Given the description of an element on the screen output the (x, y) to click on. 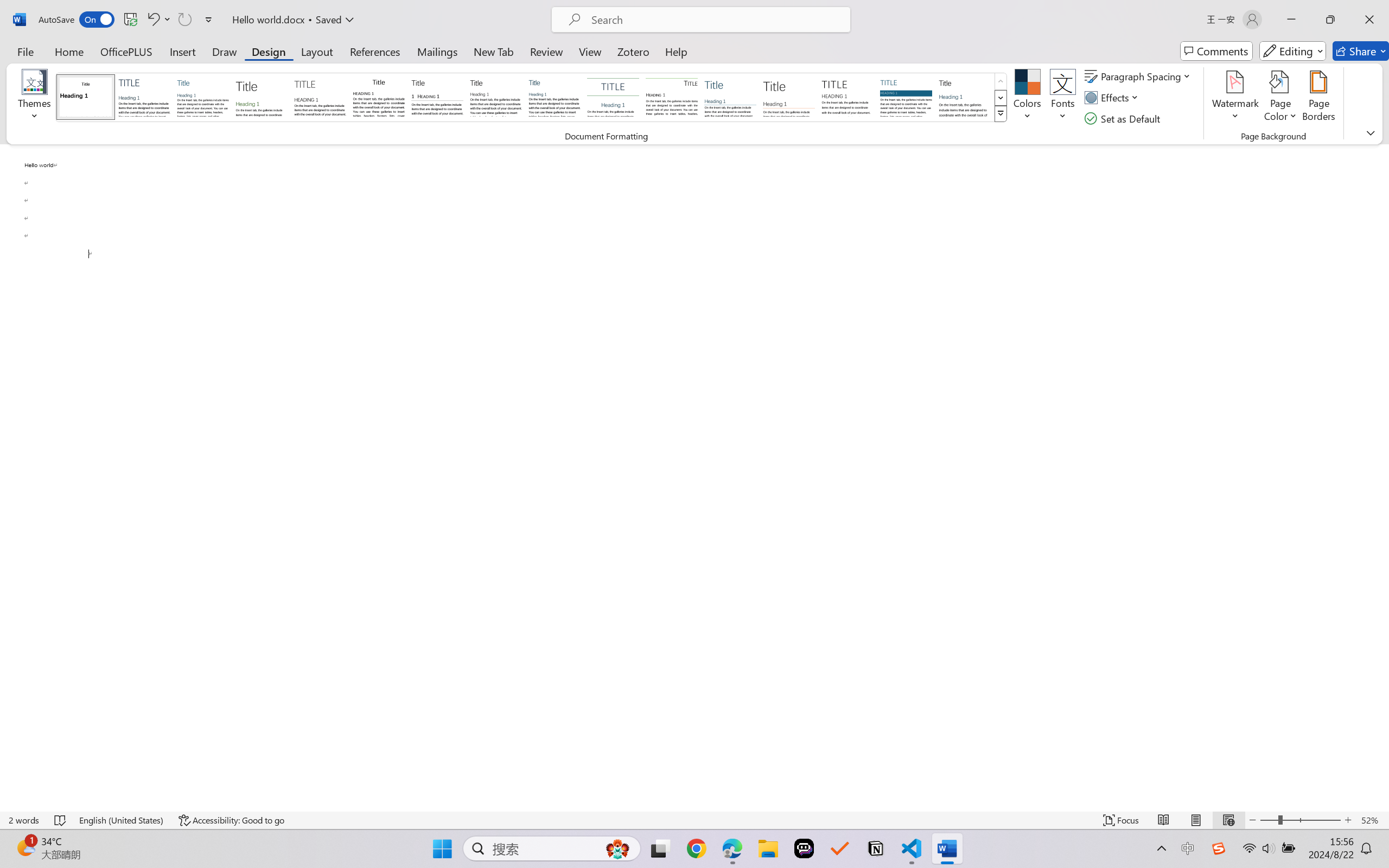
Set as Default (1124, 118)
Zotero (632, 51)
Focus  (1121, 819)
Row up (1000, 81)
Close (1369, 19)
Effects (1113, 97)
Black & White (Classic) (379, 96)
More Options (167, 19)
Class: NetUIScrollBar (1382, 477)
Save (130, 19)
Black & White (Numbered) (437, 96)
Class: NetUIImage (1000, 114)
Design (268, 51)
Minimize (1291, 19)
